Given the description of an element on the screen output the (x, y) to click on. 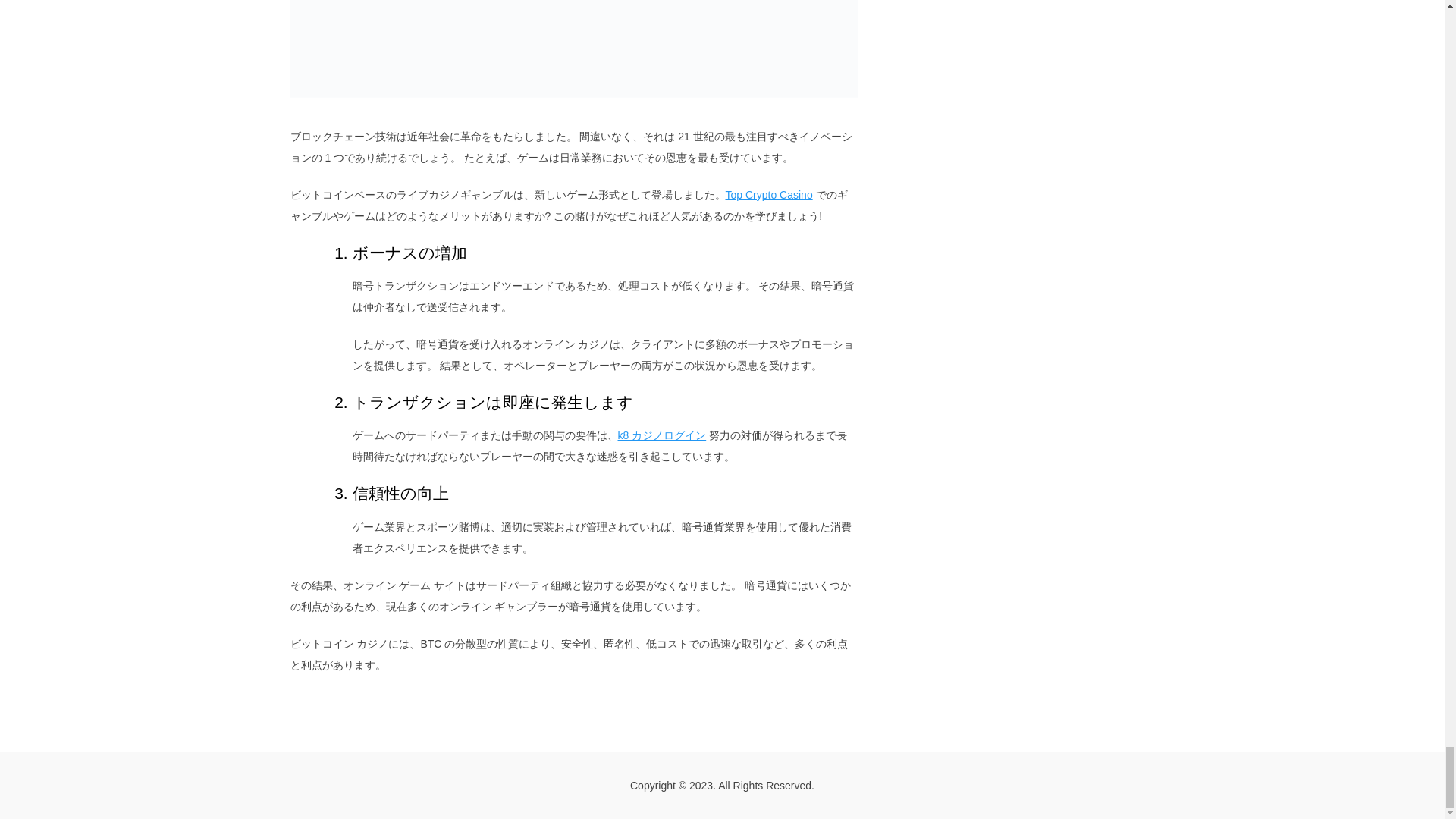
Top Crypto Casino (768, 194)
